Given the description of an element on the screen output the (x, y) to click on. 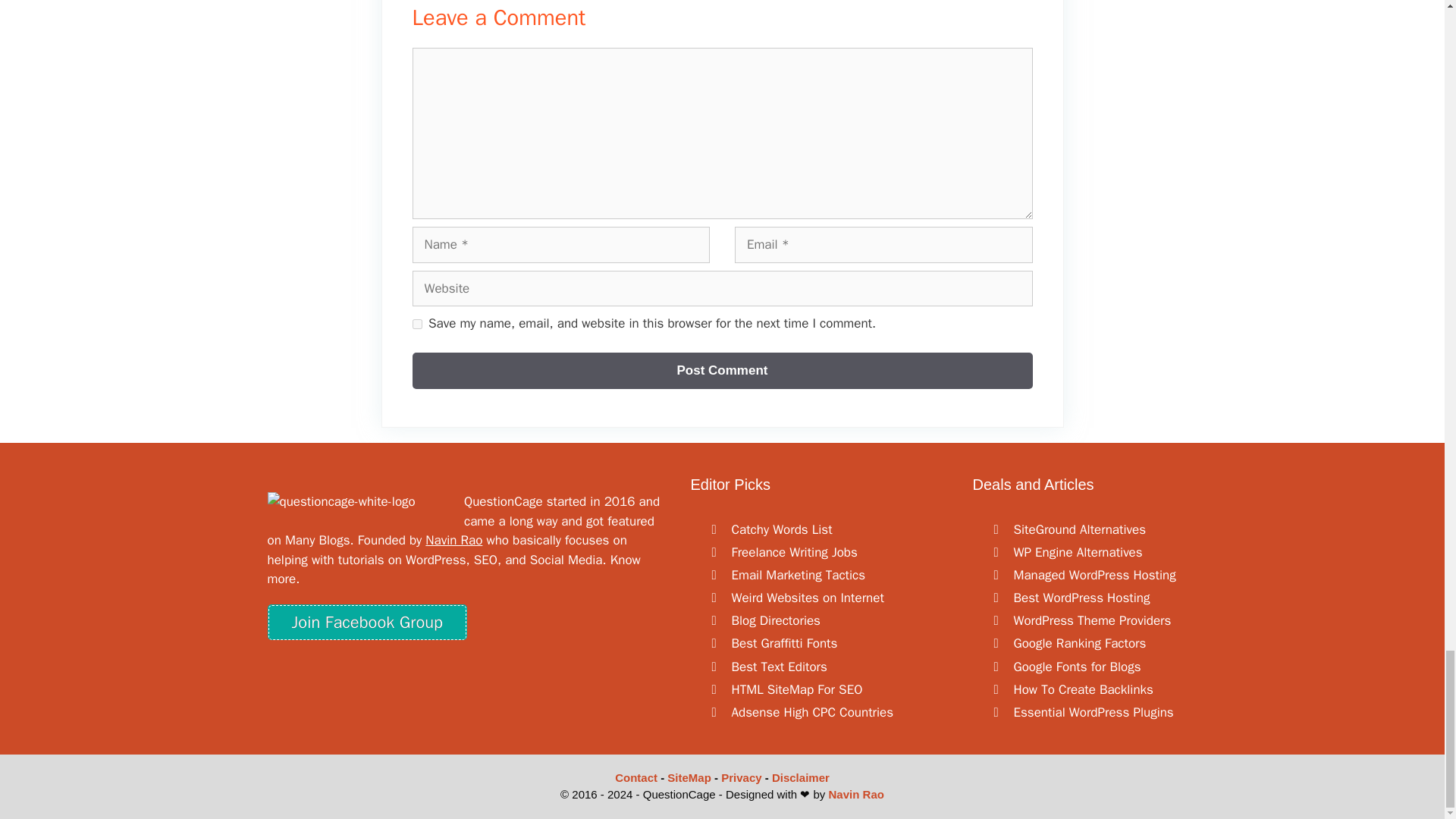
yes (417, 324)
Post Comment (722, 370)
